Given the description of an element on the screen output the (x, y) to click on. 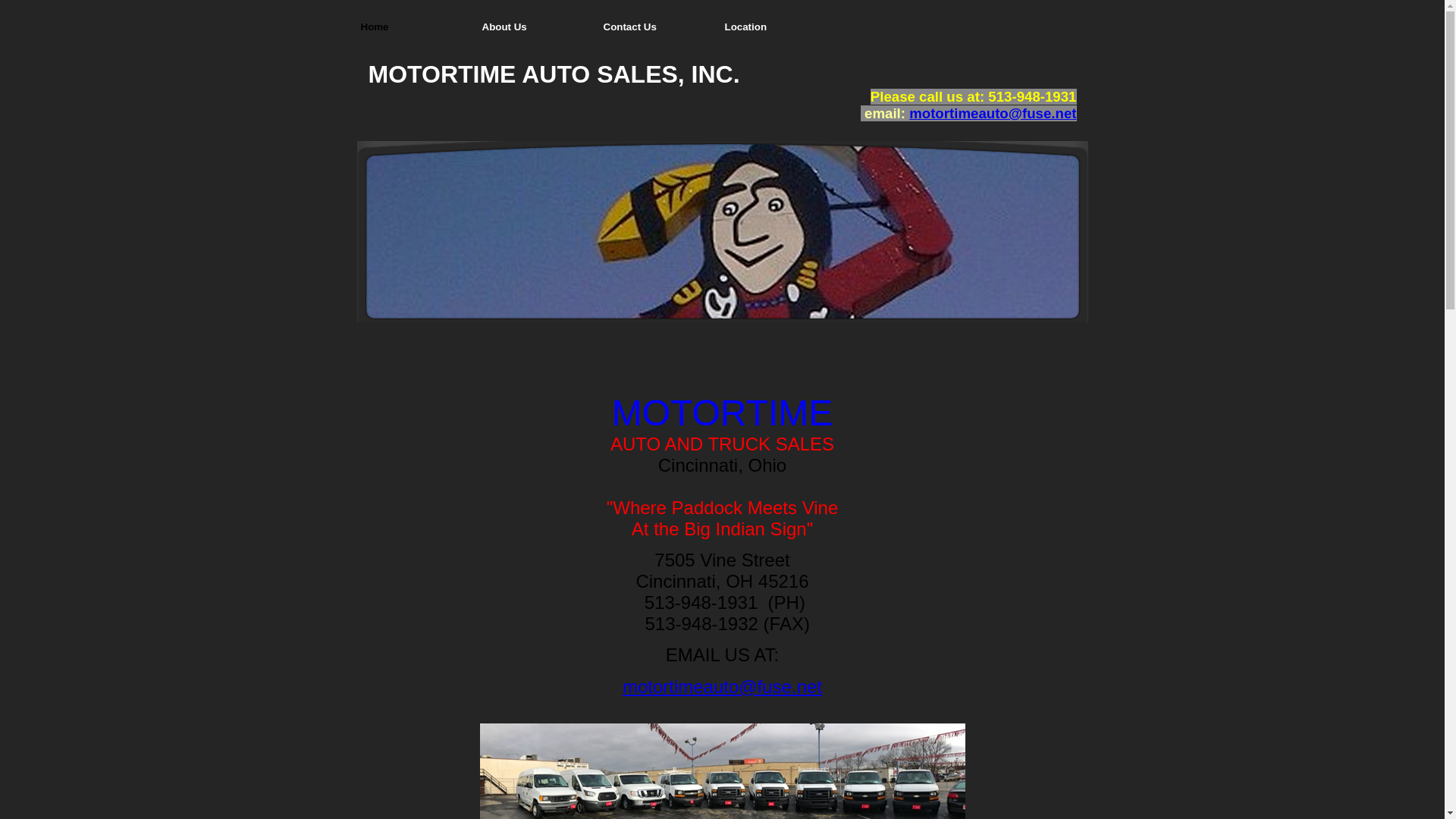
Contact Us (659, 28)
Location (780, 28)
Home (416, 28)
About Us (537, 28)
